Given the description of an element on the screen output the (x, y) to click on. 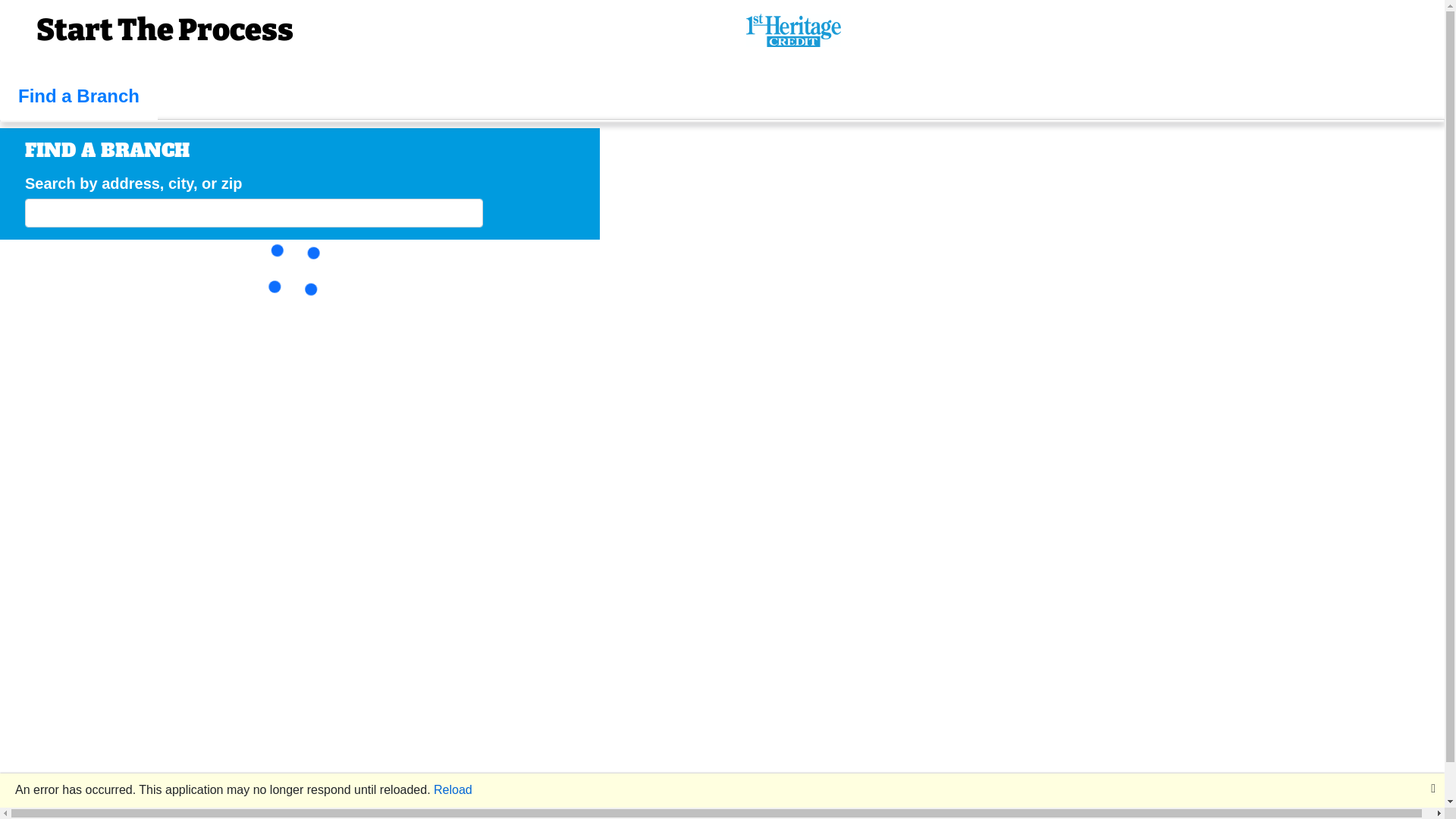
Enter a location Element type: hover (253, 212)
Reload Element type: text (452, 789)
